Given the description of an element on the screen output the (x, y) to click on. 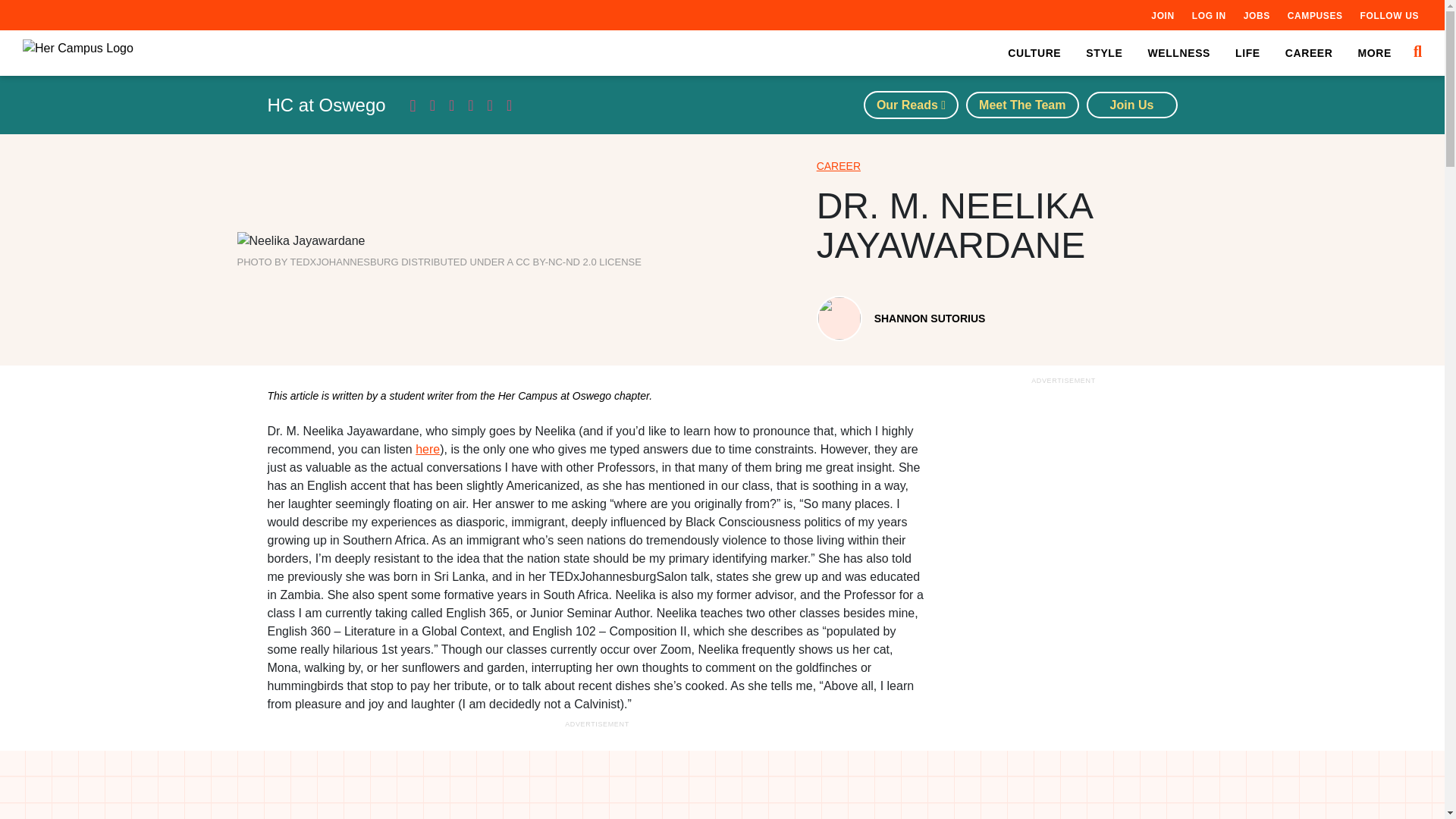
JOIN (1162, 15)
CAMPUSES (1314, 15)
Dr. M. Neelika Jayawardane 1 (300, 240)
LOG IN (1208, 15)
JOBS (1256, 15)
